Given the description of an element on the screen output the (x, y) to click on. 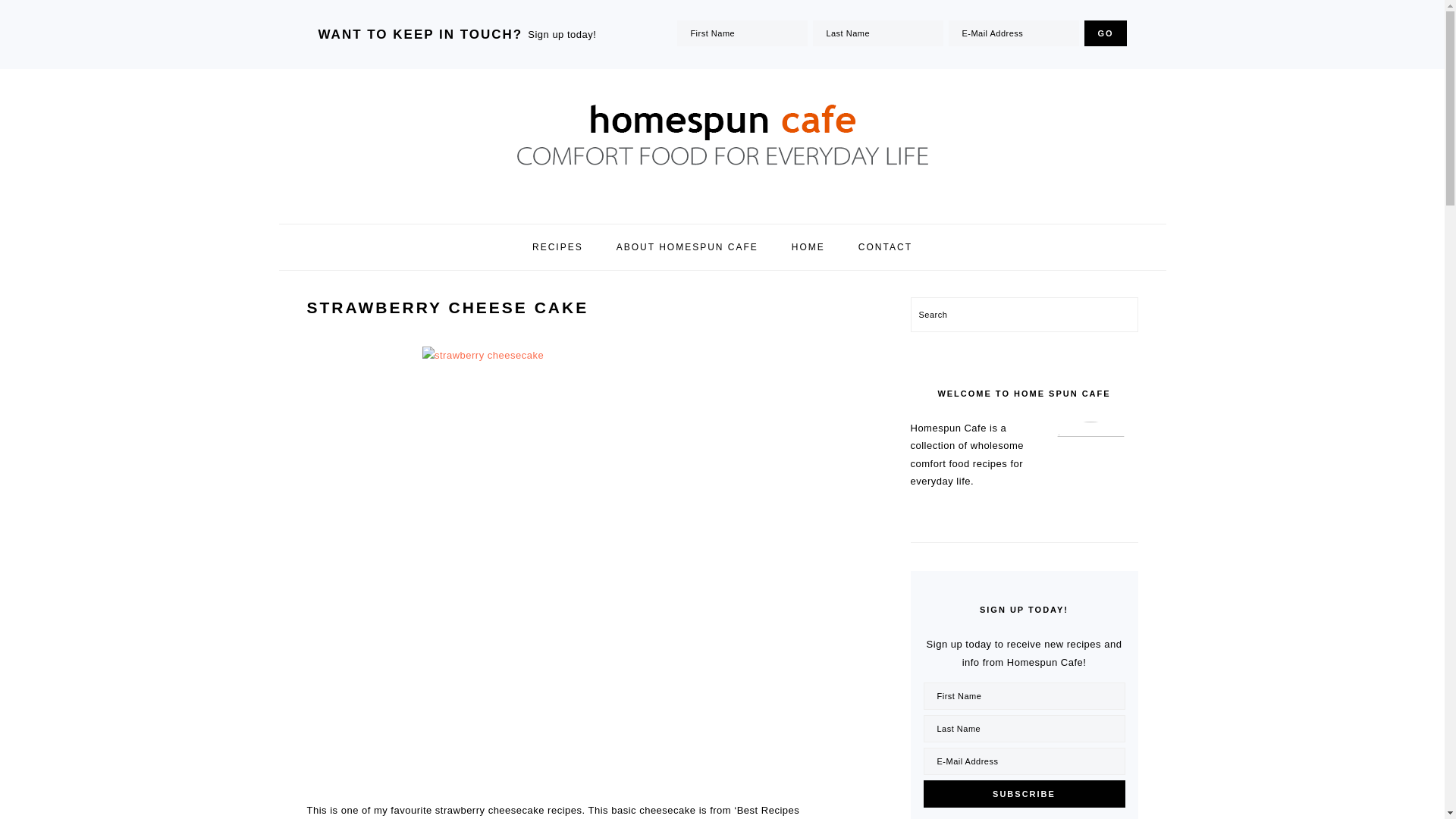
Go (1104, 32)
Subscribe (1024, 793)
Homespuncafe (721, 136)
ABOUT HOMESPUN CAFE (686, 247)
Go (1104, 32)
RECIPES (557, 247)
HOME (808, 247)
Homespuncafe (721, 208)
Subscribe (1024, 793)
CONTACT (885, 247)
